Given the description of an element on the screen output the (x, y) to click on. 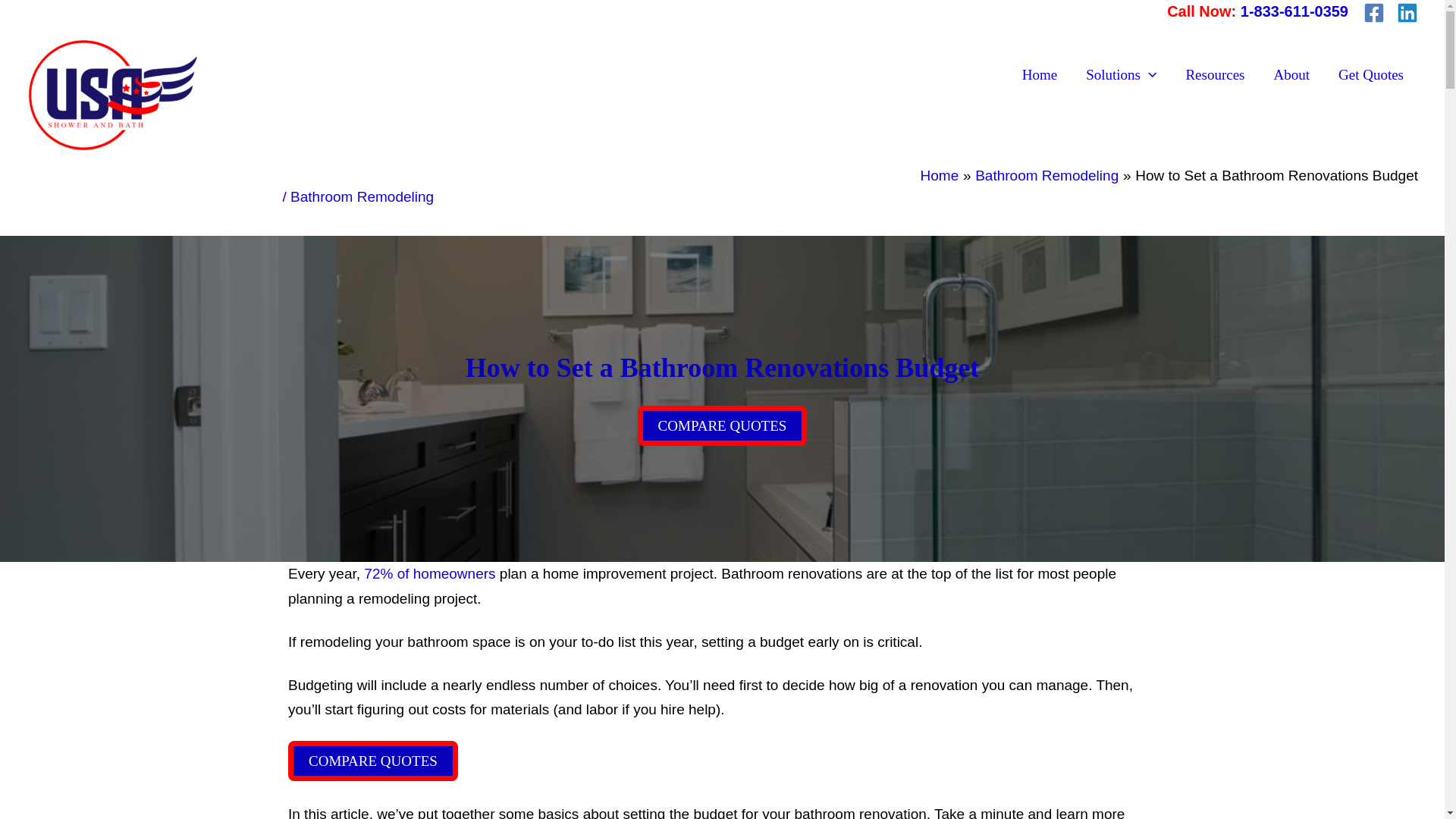
Resources (1214, 74)
Home (939, 175)
1-833-611-0359 (1294, 11)
Home (1039, 74)
Solutions (1120, 74)
Bathroom Remodeling (1046, 175)
About (1291, 74)
Get Quotes (1370, 74)
